Given the description of an element on the screen output the (x, y) to click on. 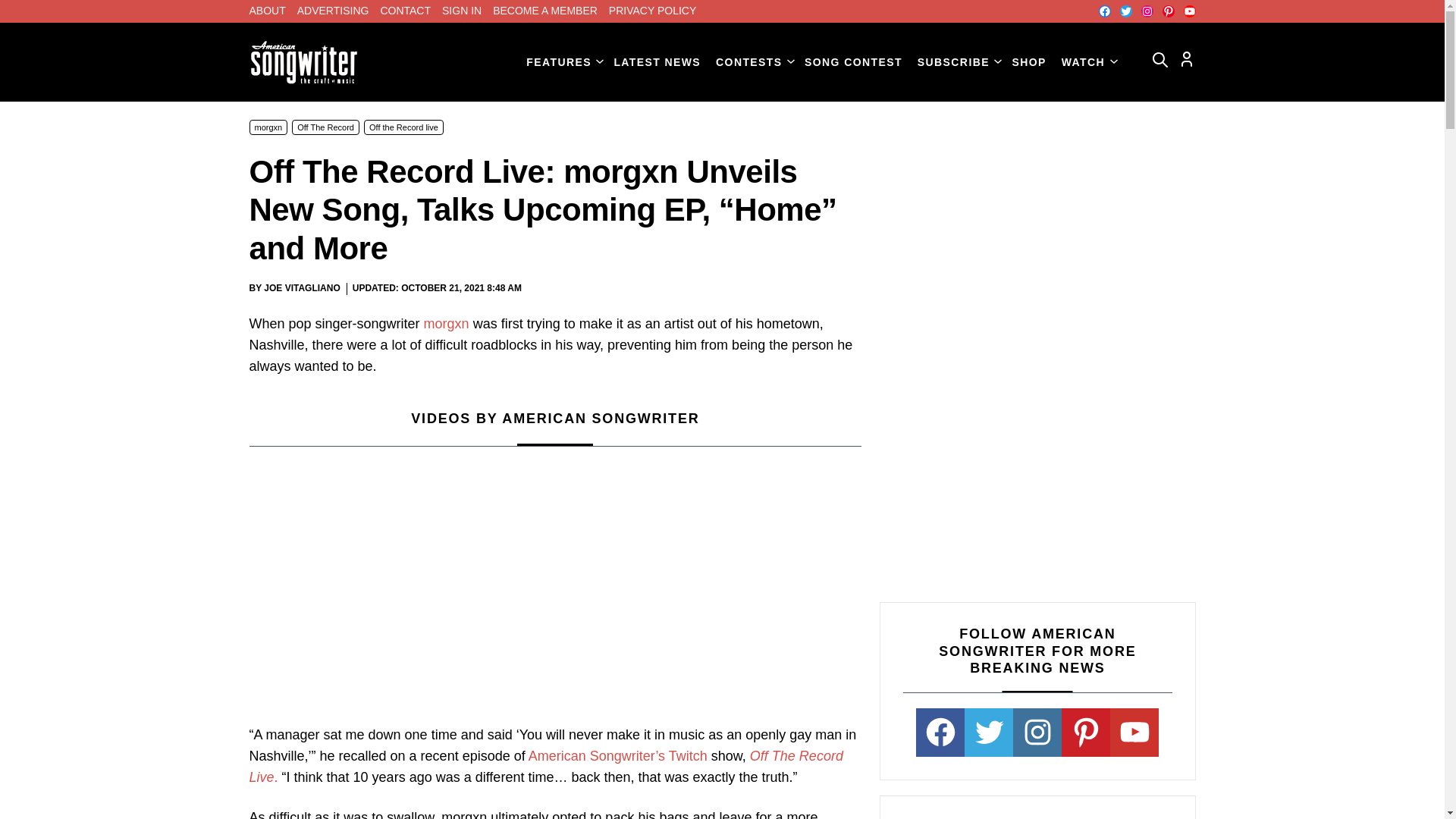
Posts by Joe Vitagliano (301, 287)
ADVERTISING (333, 10)
YouTube (1188, 10)
BECOME A MEMBER (544, 10)
Twitter (1125, 10)
CONTACT (405, 10)
Facebook (1103, 10)
Pinterest (1167, 10)
PRIVACY POLICY (651, 10)
SIGN IN (461, 10)
